Given the description of an element on the screen output the (x, y) to click on. 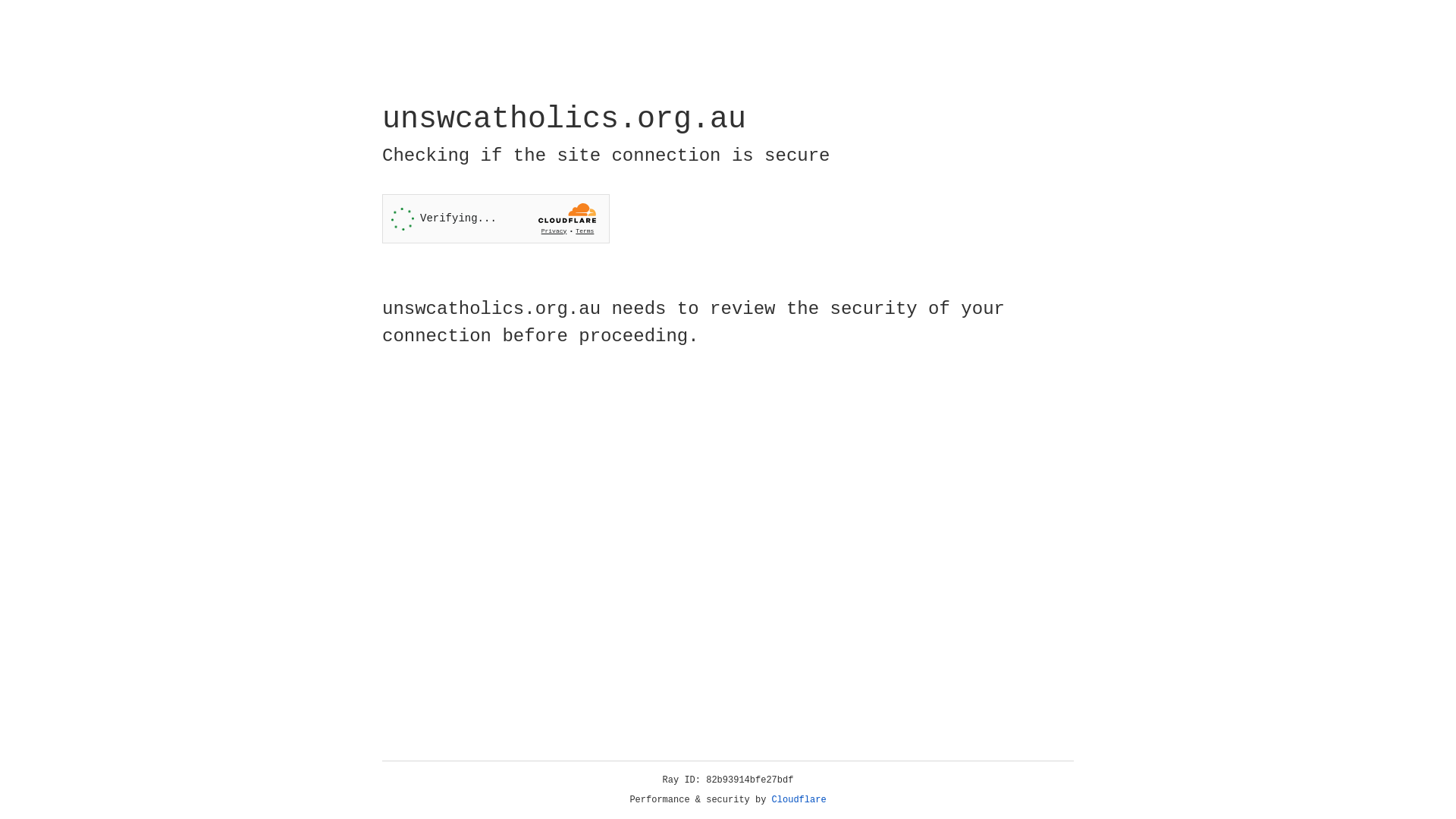
Cloudflare Element type: text (798, 799)
Widget containing a Cloudflare security challenge Element type: hover (495, 218)
